Given the description of an element on the screen output the (x, y) to click on. 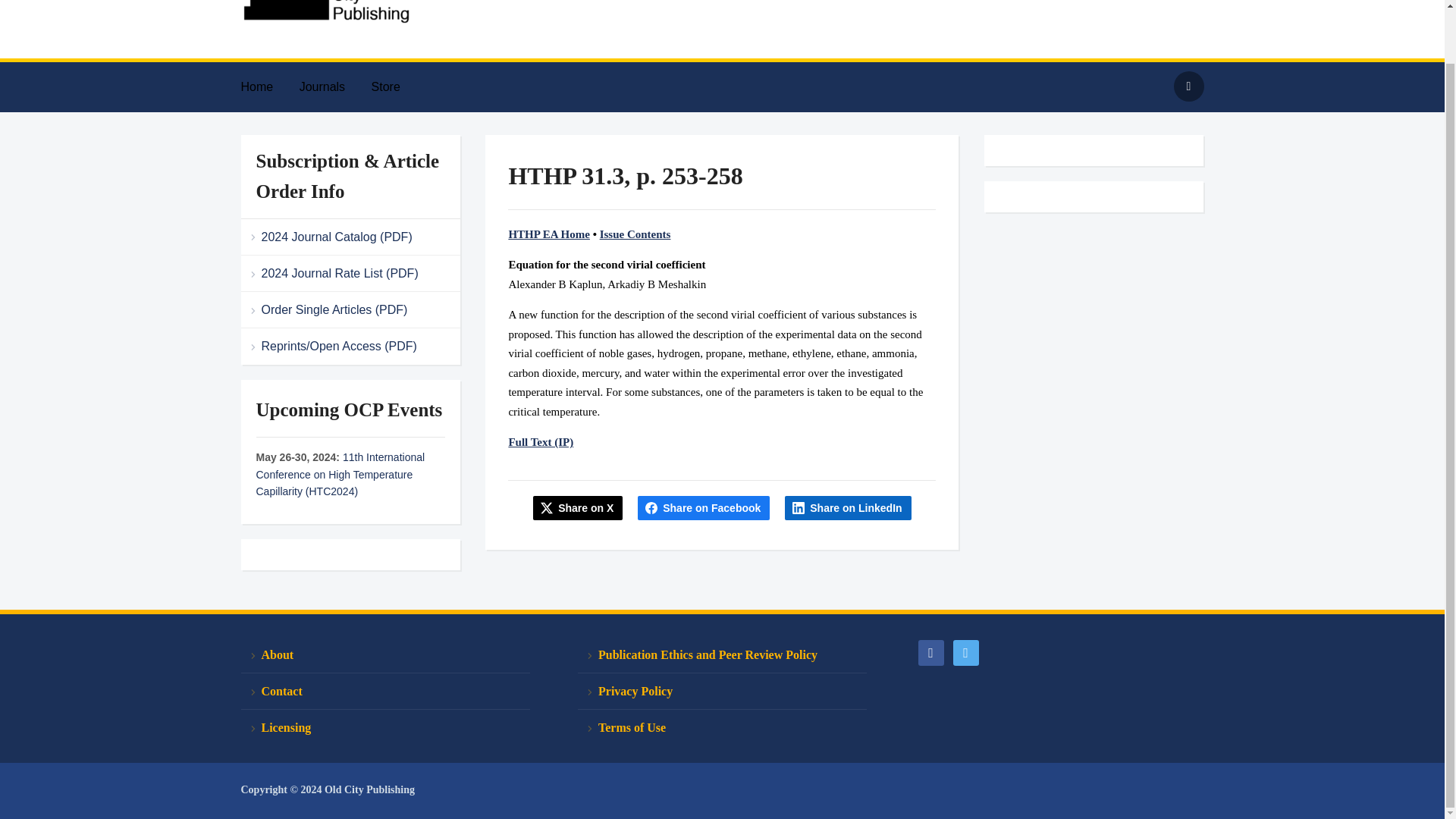
About (385, 655)
Terms of Use (722, 727)
Store (397, 86)
Share on LinkedIn (847, 508)
Share this on X (577, 508)
Follow Me (965, 650)
twitter (965, 650)
HTHP EA Home (548, 234)
Share on Facebook (703, 508)
Licensing (385, 727)
